Given the description of an element on the screen output the (x, y) to click on. 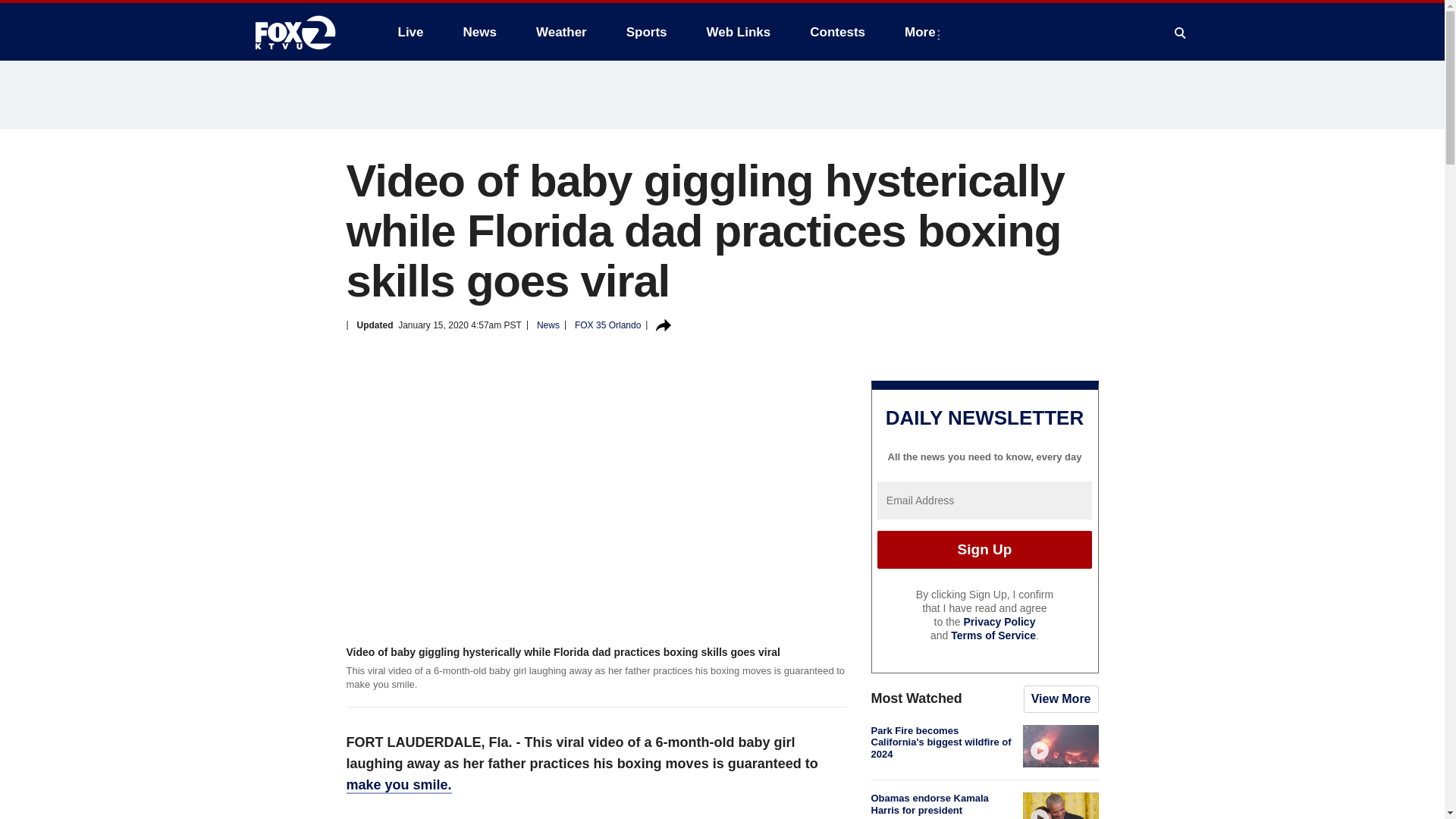
Contests (837, 32)
Weather (561, 32)
Web Links (738, 32)
Sports (646, 32)
News (479, 32)
Live (410, 32)
More (922, 32)
Sign Up (984, 549)
